Given the description of an element on the screen output the (x, y) to click on. 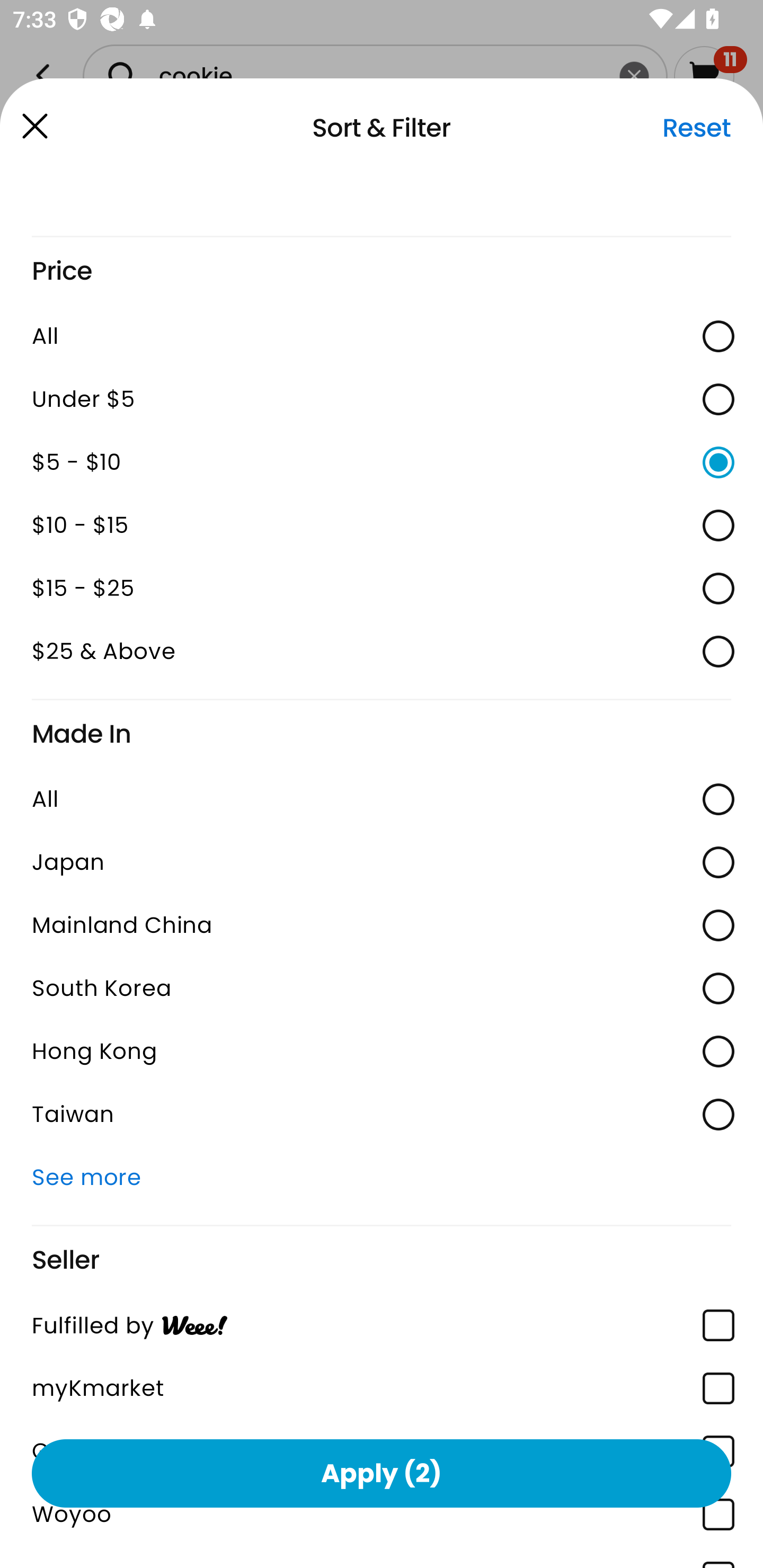
Reset (696, 127)
See more (381, 1177)
